Given the description of an element on the screen output the (x, y) to click on. 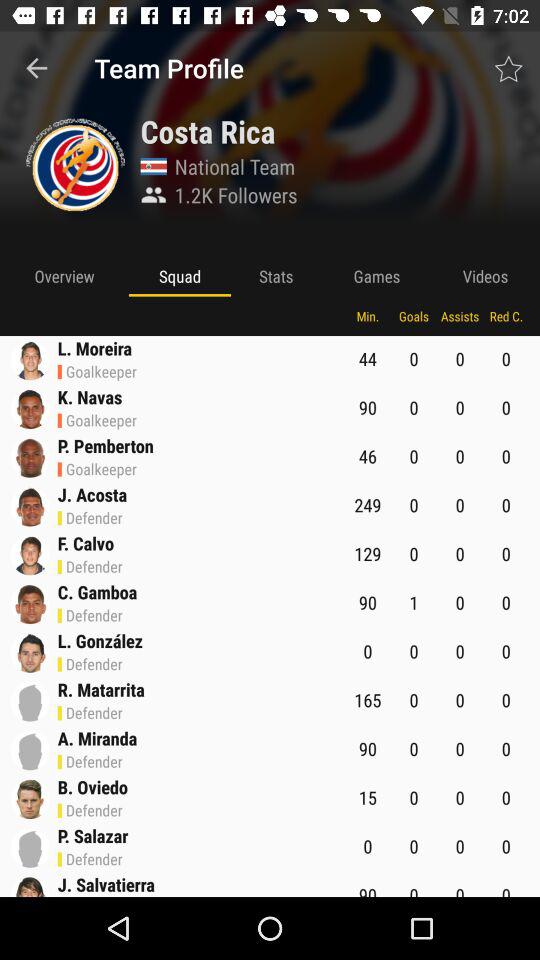
click the overview icon (64, 276)
